Given the description of an element on the screen output the (x, y) to click on. 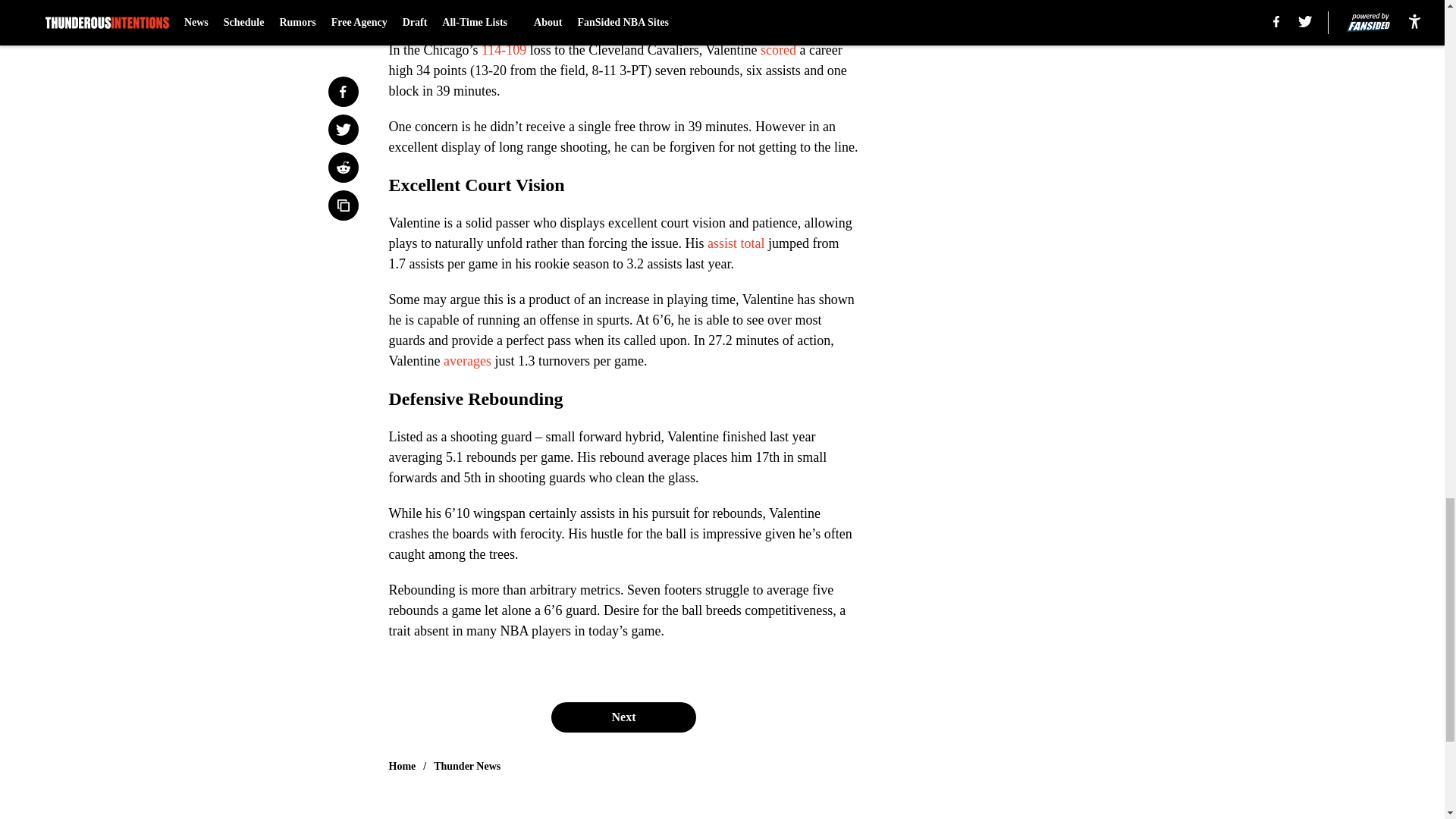
scored (778, 49)
Next (622, 716)
assist total (736, 242)
averages (464, 360)
114-109 (503, 49)
Thunder News (466, 766)
Home (401, 766)
